Given the description of an element on the screen output the (x, y) to click on. 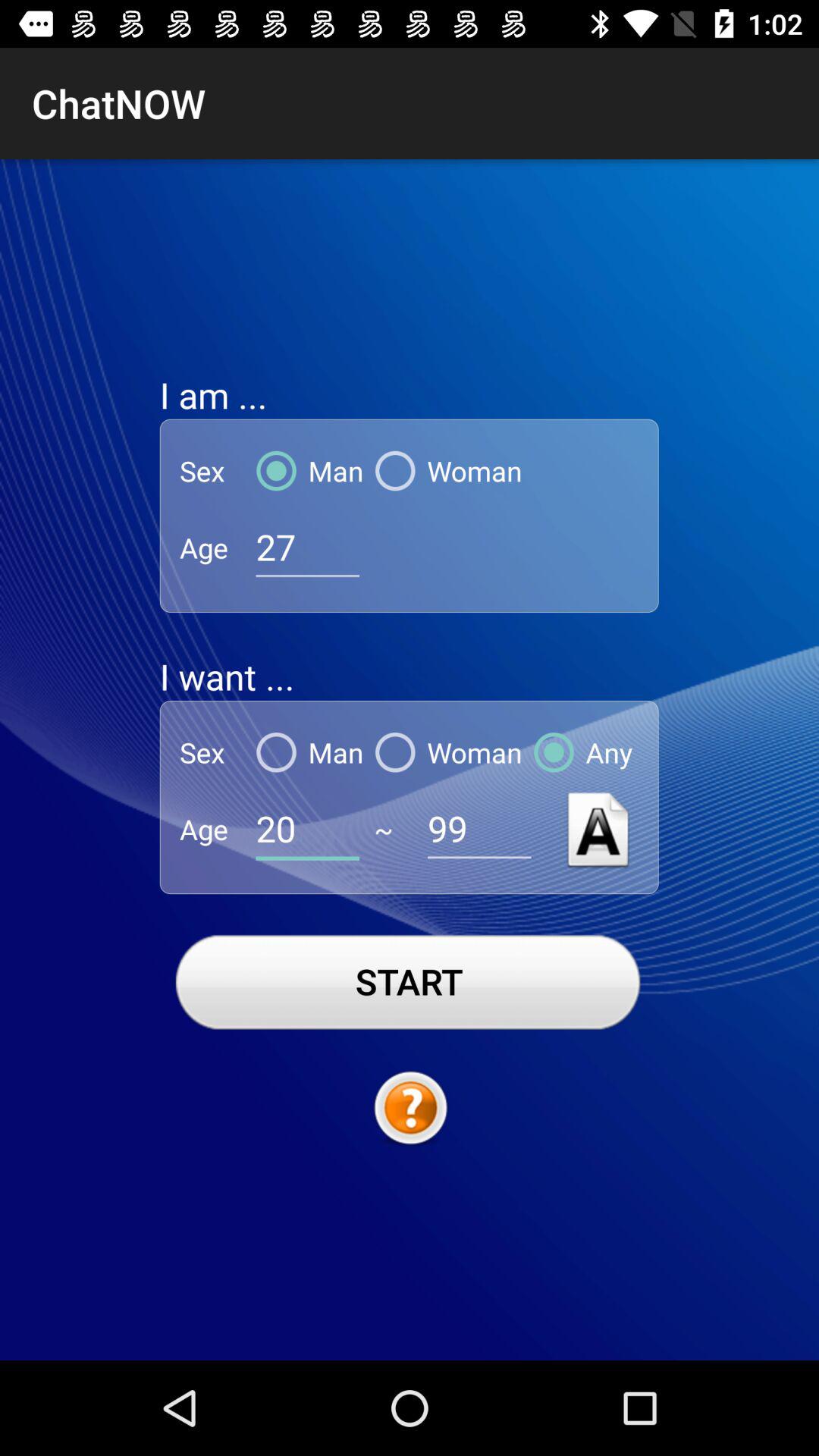
question option (409, 1108)
